Given the description of an element on the screen output the (x, y) to click on. 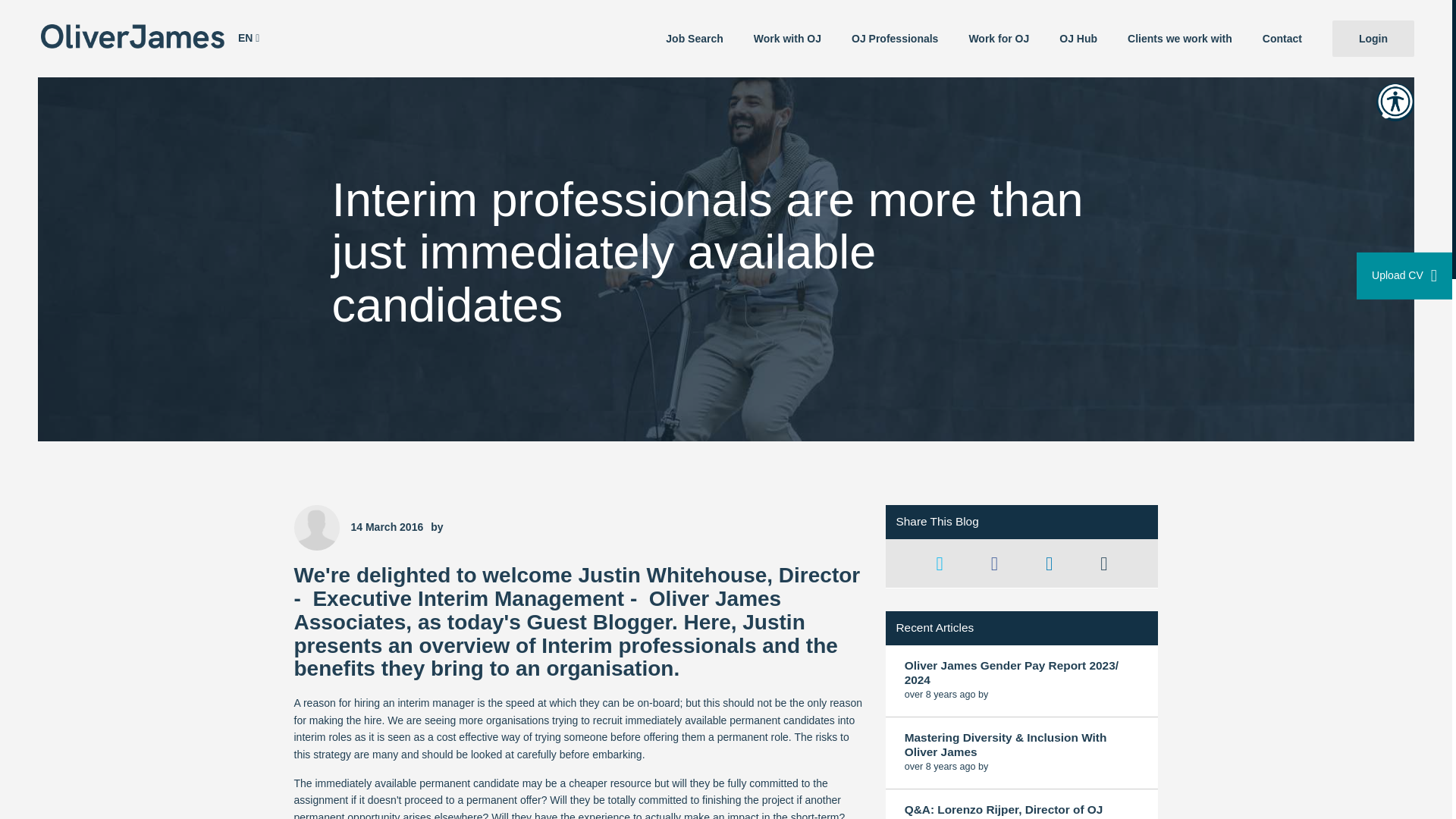
OJ Professionals (894, 38)
Login (1372, 38)
Work for OJ (998, 38)
Contact (1282, 38)
Upload CV (1404, 275)
Job Search (694, 38)
Work with OJ (786, 38)
Clients we work with (1179, 38)
